Given the description of an element on the screen output the (x, y) to click on. 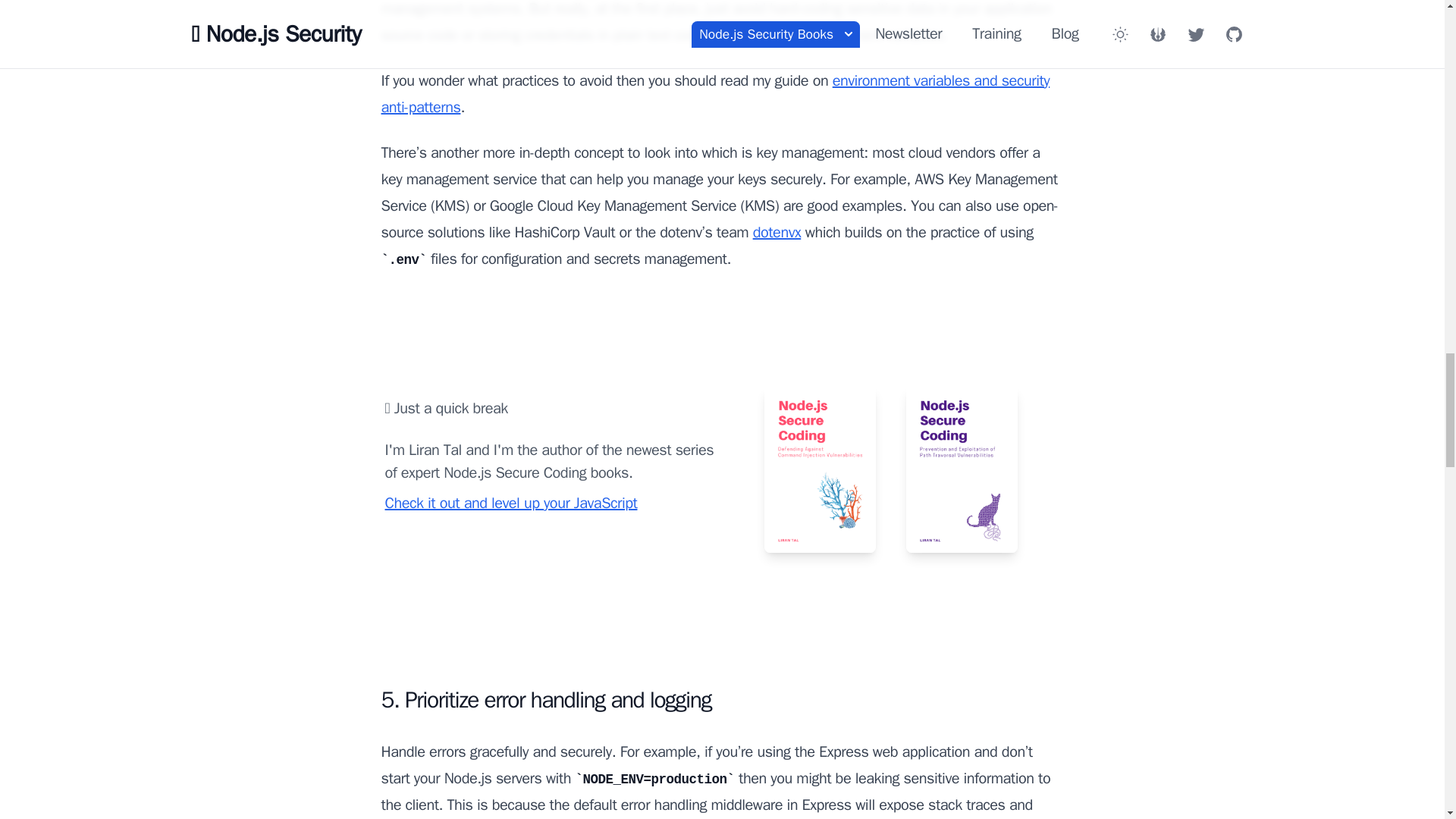
environment variables and security anti-patterns (714, 94)
dotenvx (777, 231)
Check it out and level up your JavaScript (511, 502)
